Given the description of an element on the screen output the (x, y) to click on. 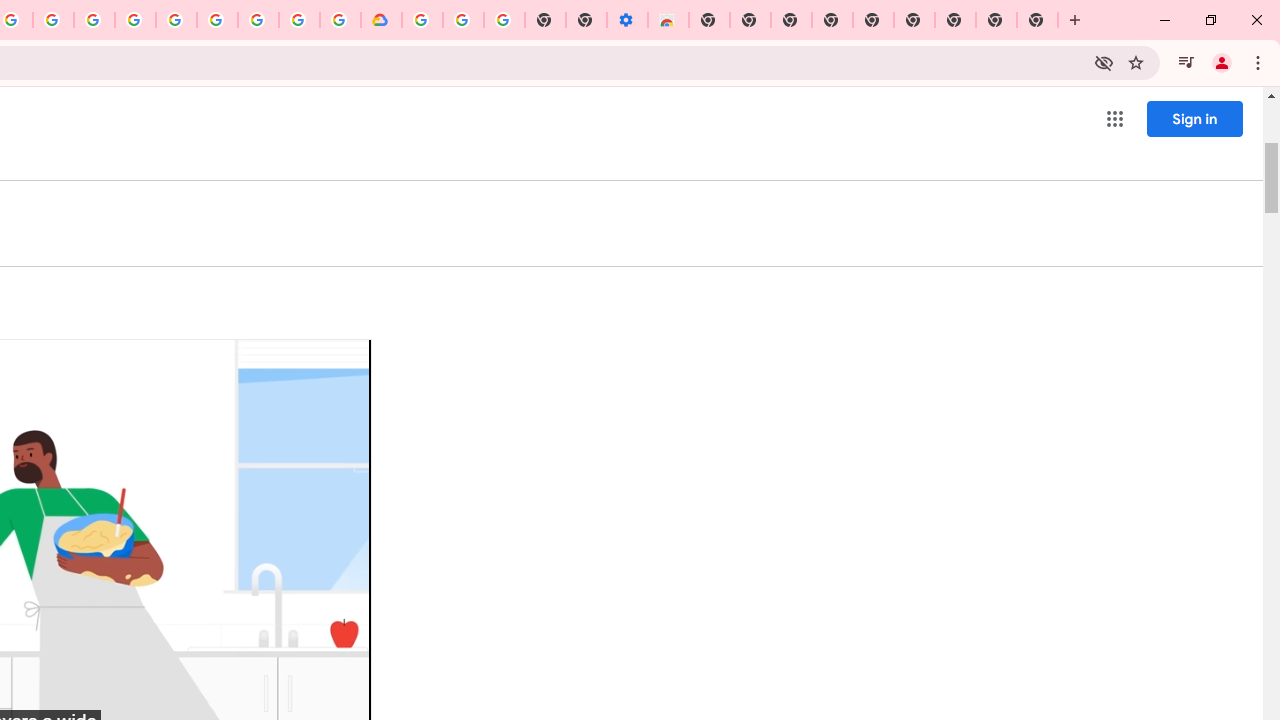
Turn cookies on or off - Computer - Google Account Help (503, 20)
New Tab (708, 20)
Sign in - Google Accounts (176, 20)
Ad Settings (135, 20)
Copy link (319, 370)
Create your Google Account (53, 20)
Google Account Help (217, 20)
Chrome Web Store - Accessibility extensions (667, 20)
